Given the description of an element on the screen output the (x, y) to click on. 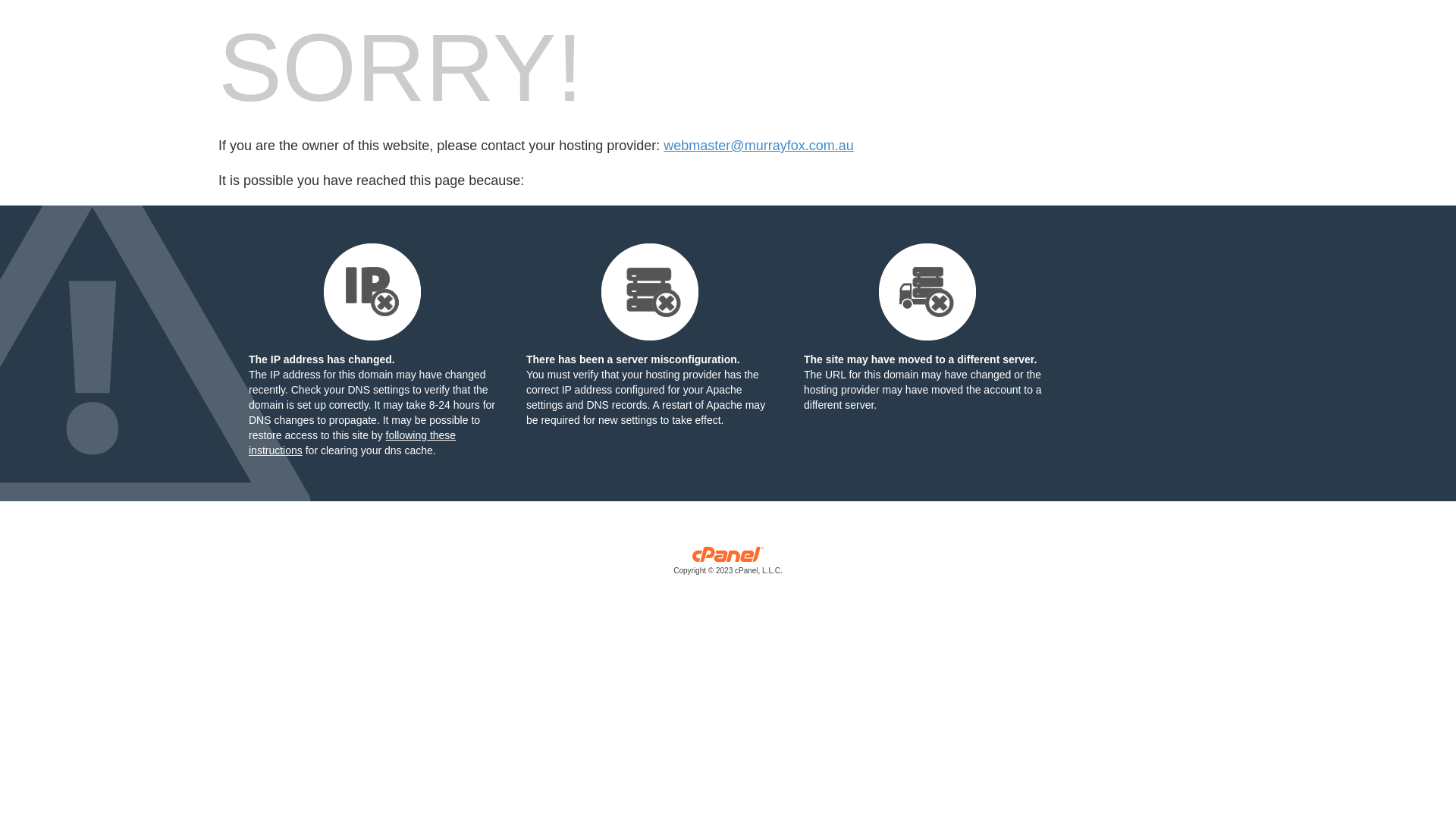
webmaster@murrayfox.com.au Element type: text (758, 145)
following these instructions Element type: text (351, 442)
